Given the description of an element on the screen output the (x, y) to click on. 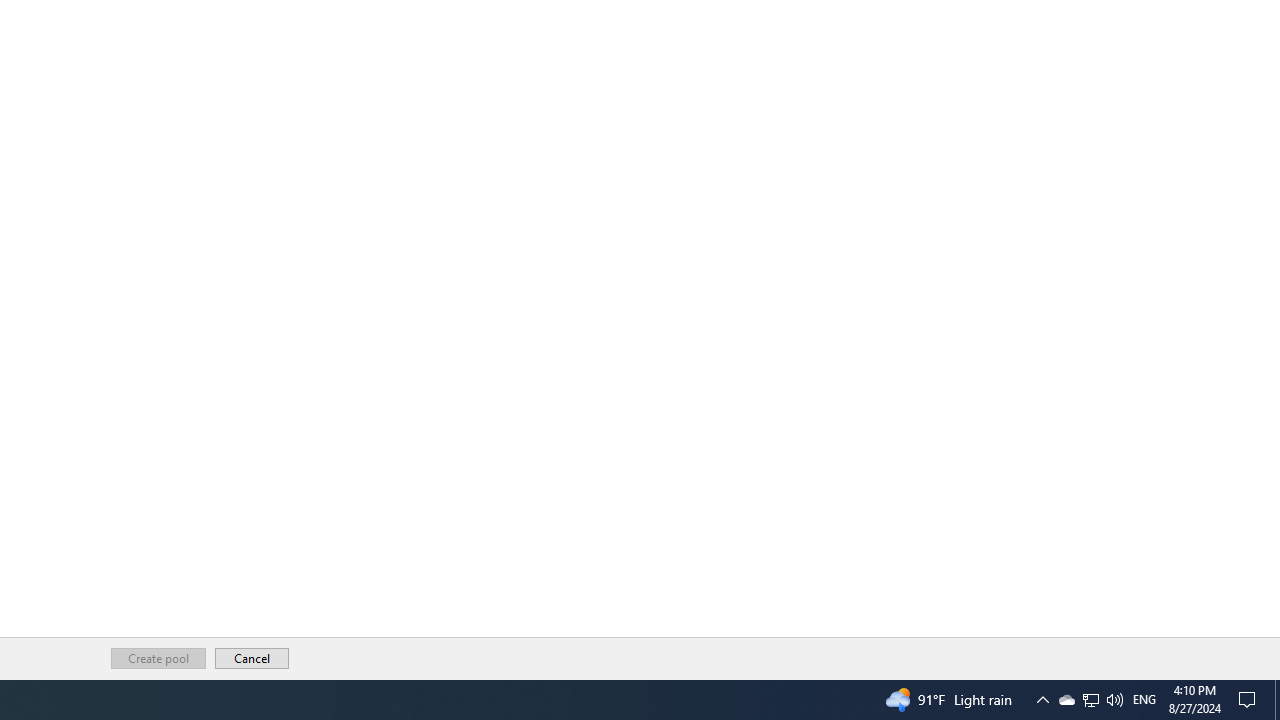
Create pool (158, 658)
Cancel (251, 658)
